Given the description of an element on the screen output the (x, y) to click on. 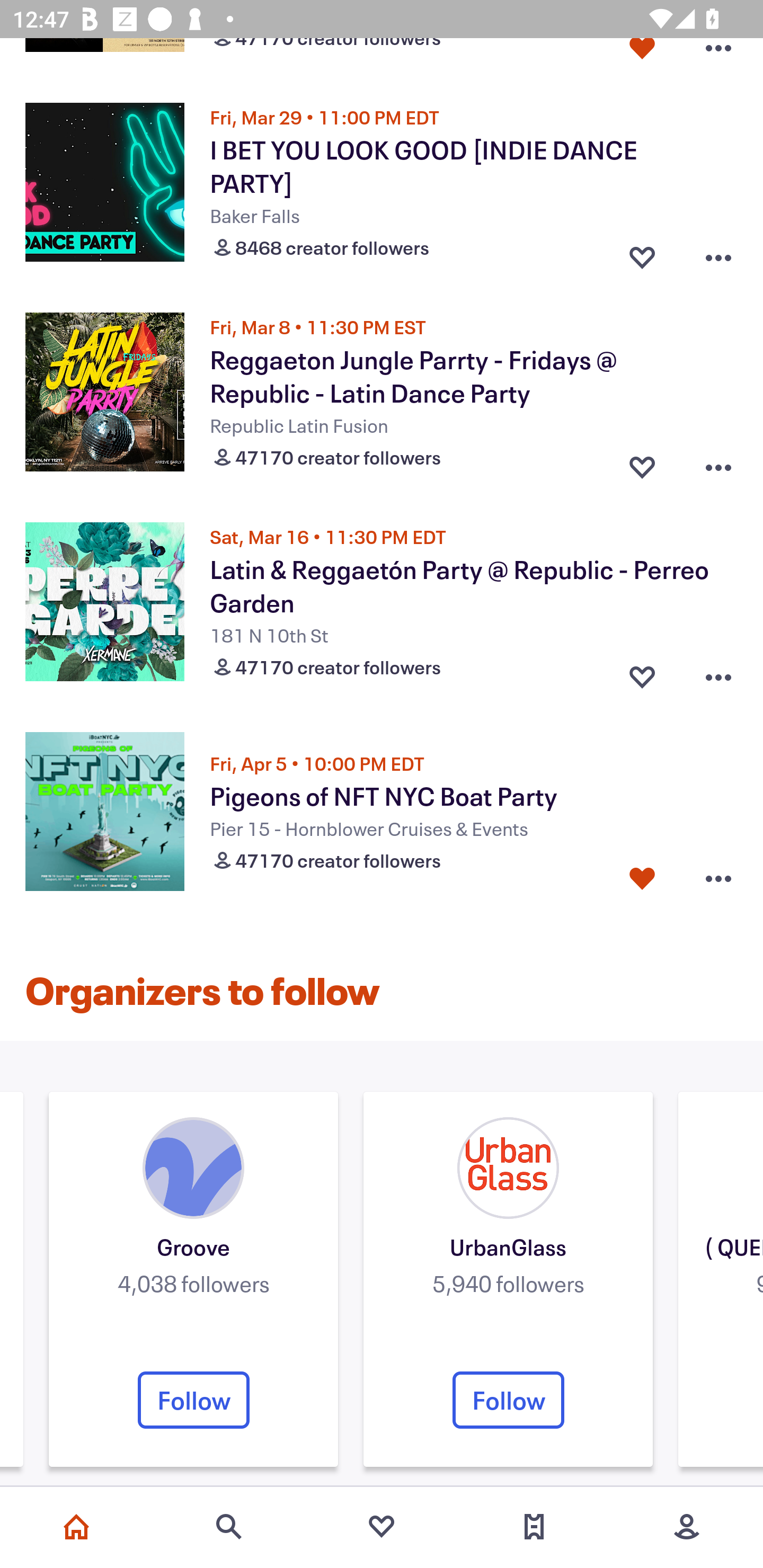
Favorite button (642, 56)
Overflow menu button (718, 56)
Favorite button (642, 252)
Overflow menu button (718, 252)
Favorite button (642, 463)
Overflow menu button (718, 463)
Favorite button (642, 673)
Overflow menu button (718, 673)
Favorite button (642, 877)
Overflow menu button (718, 877)
Follow Organizer's follow button (193, 1400)
Follow Organizer's follow button (508, 1400)
Home (76, 1526)
Search events (228, 1526)
Favorites (381, 1526)
Tickets (533, 1526)
More (686, 1526)
